Given the description of an element on the screen output the (x, y) to click on. 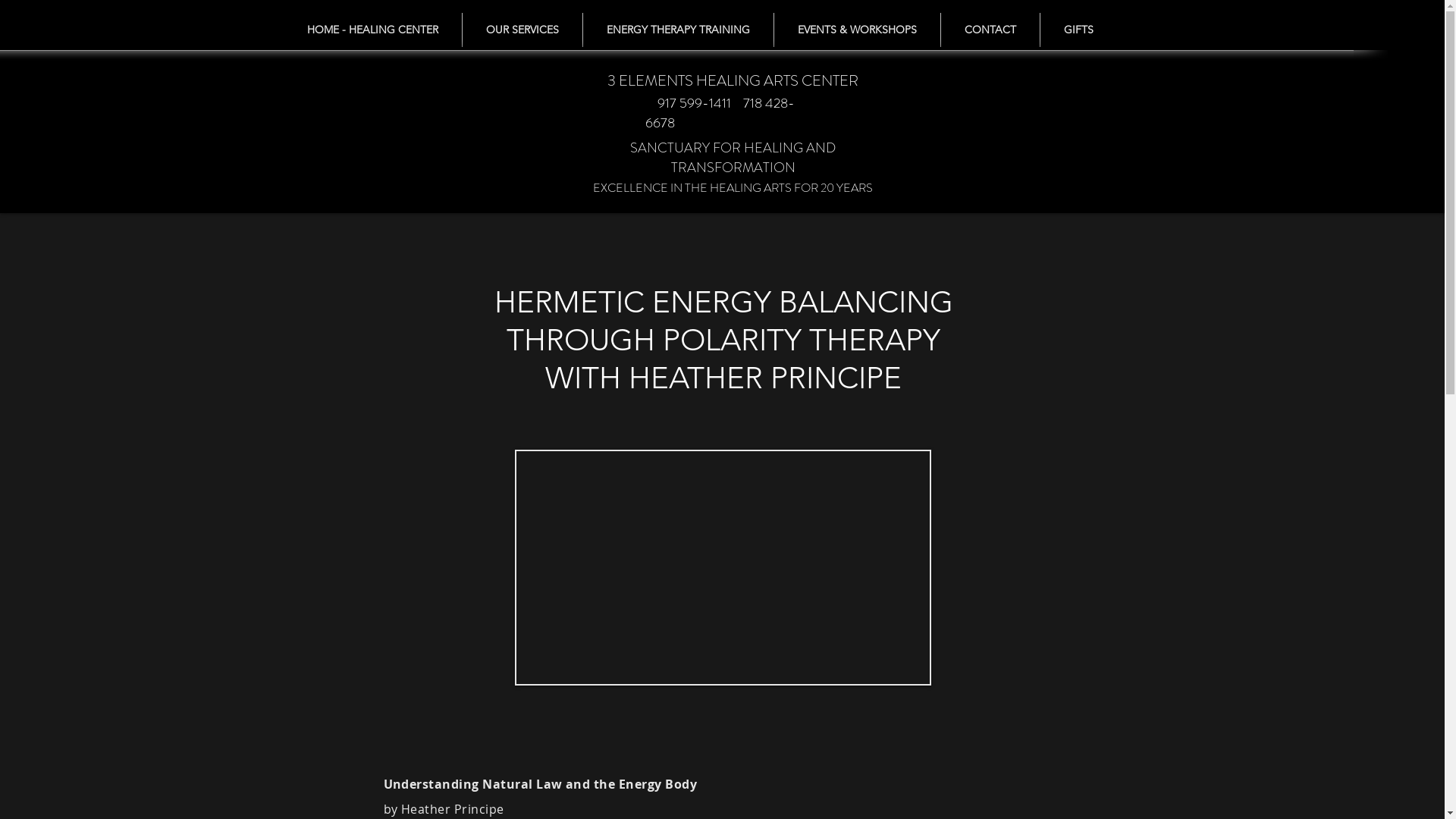
GIFTS Element type: text (1078, 29)
3 ELEMENTS HEALING ARTS CENTER Element type: text (731, 80)
CONTACT Element type: text (989, 29)
SANCTUARY FOR HEALING AND TRANSFORMATION Element type: text (732, 157)
EXCELLENCE IN THE HEALING ARTS FOR 20 YEARS Element type: text (732, 187)
